Given the description of an element on the screen output the (x, y) to click on. 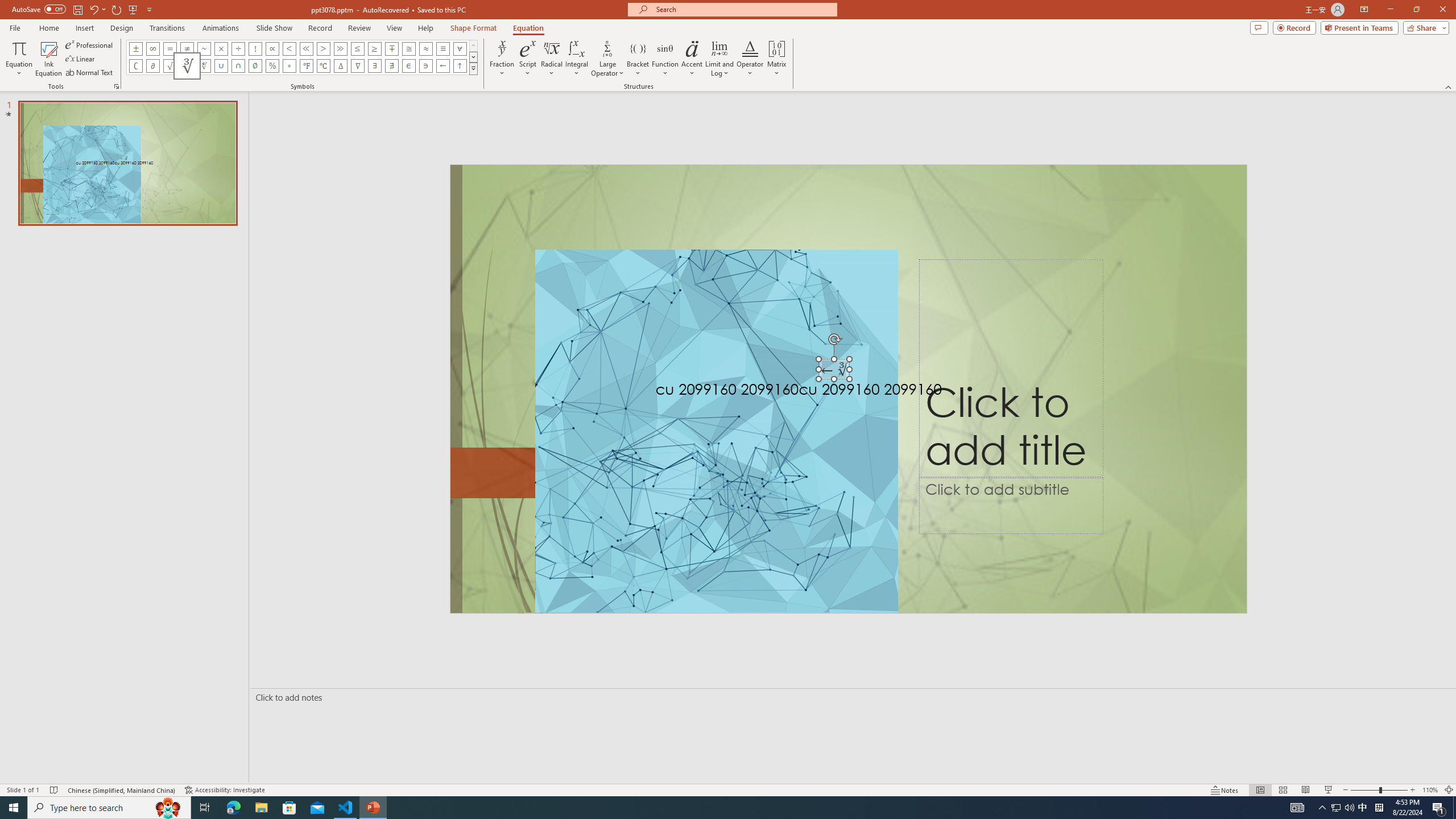
Equation Symbol Identical To (442, 48)
Equation Symbol Up Arrow (459, 65)
Equation (18, 58)
Equation Symbol Factorial (255, 48)
Equation Symbol Element Of (408, 65)
